Given the description of an element on the screen output the (x, y) to click on. 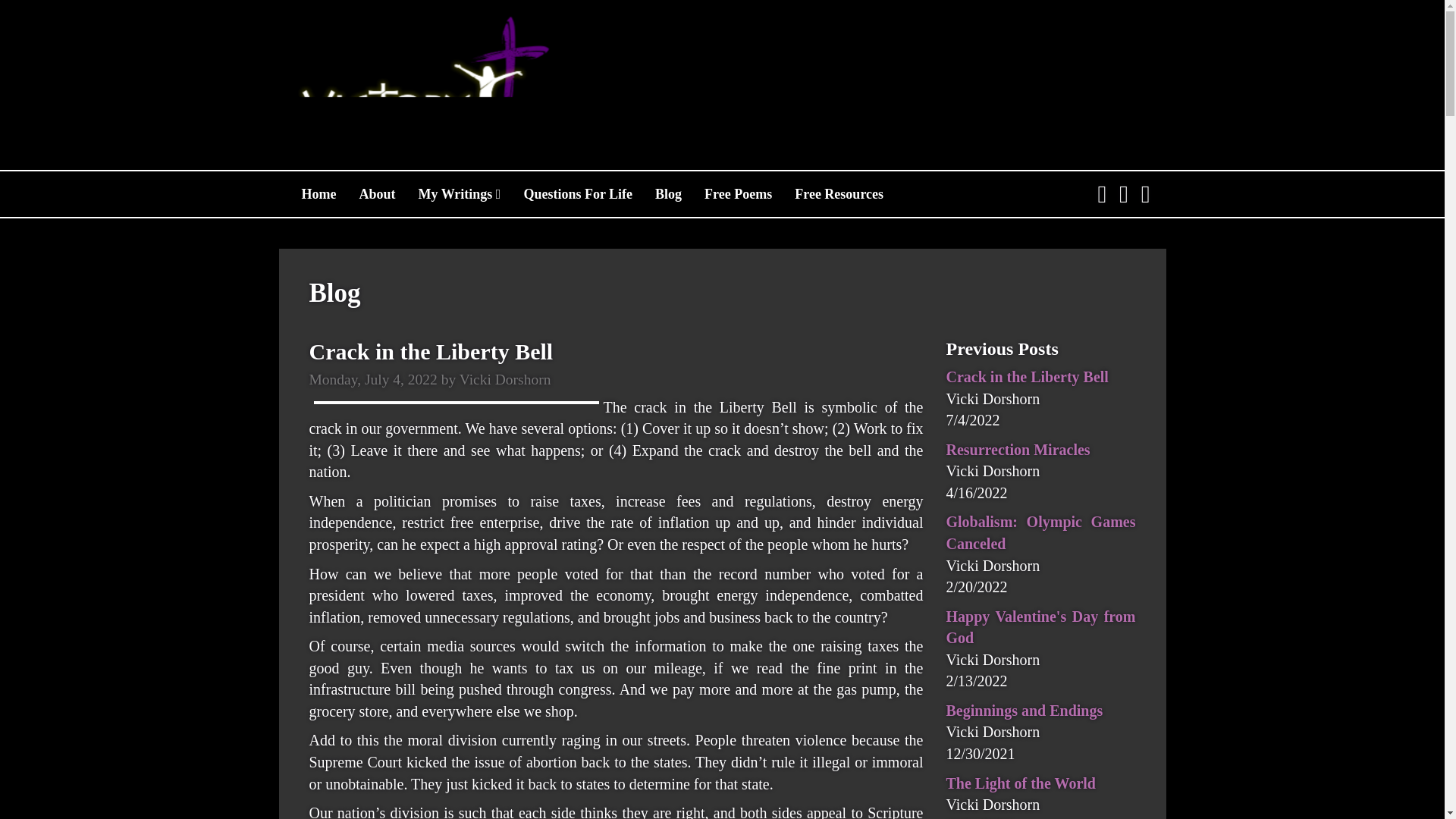
Blog (668, 194)
Free Resources (839, 194)
Resurrection Miracles (1018, 449)
Questions For Life (577, 194)
Happy Valentine's Day from God (1040, 627)
Home (318, 194)
The Light of the World (1021, 782)
My Writings (459, 194)
Globalism: Olympic Games Canceled (1040, 532)
Beginnings and Endings (1024, 710)
